Given the description of an element on the screen output the (x, y) to click on. 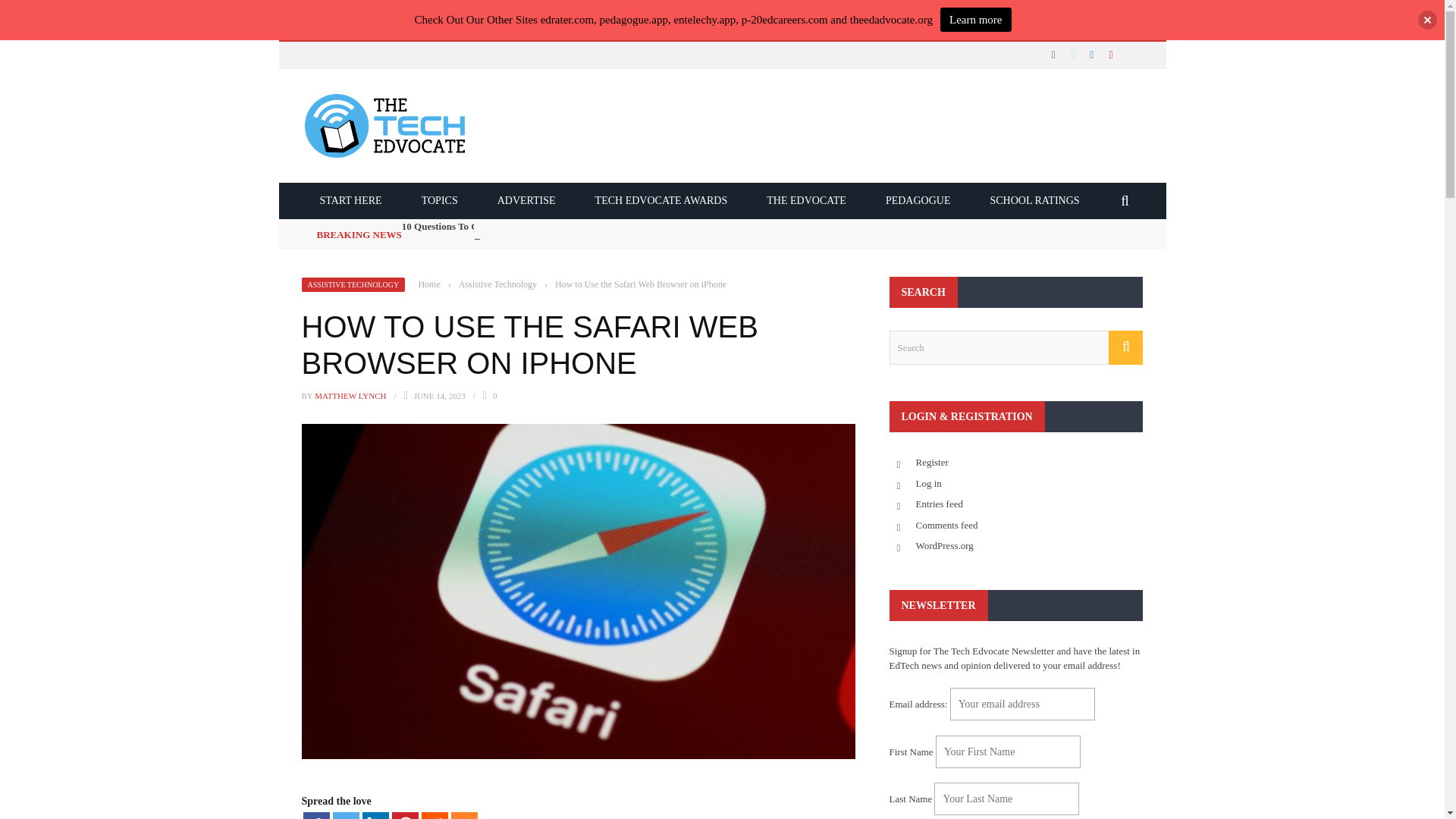
Facebook (316, 815)
Linkedin (375, 815)
Mix (463, 815)
Reddit (435, 815)
Search (1015, 347)
Pinterest (404, 815)
Twitter (344, 815)
